Given the description of an element on the screen output the (x, y) to click on. 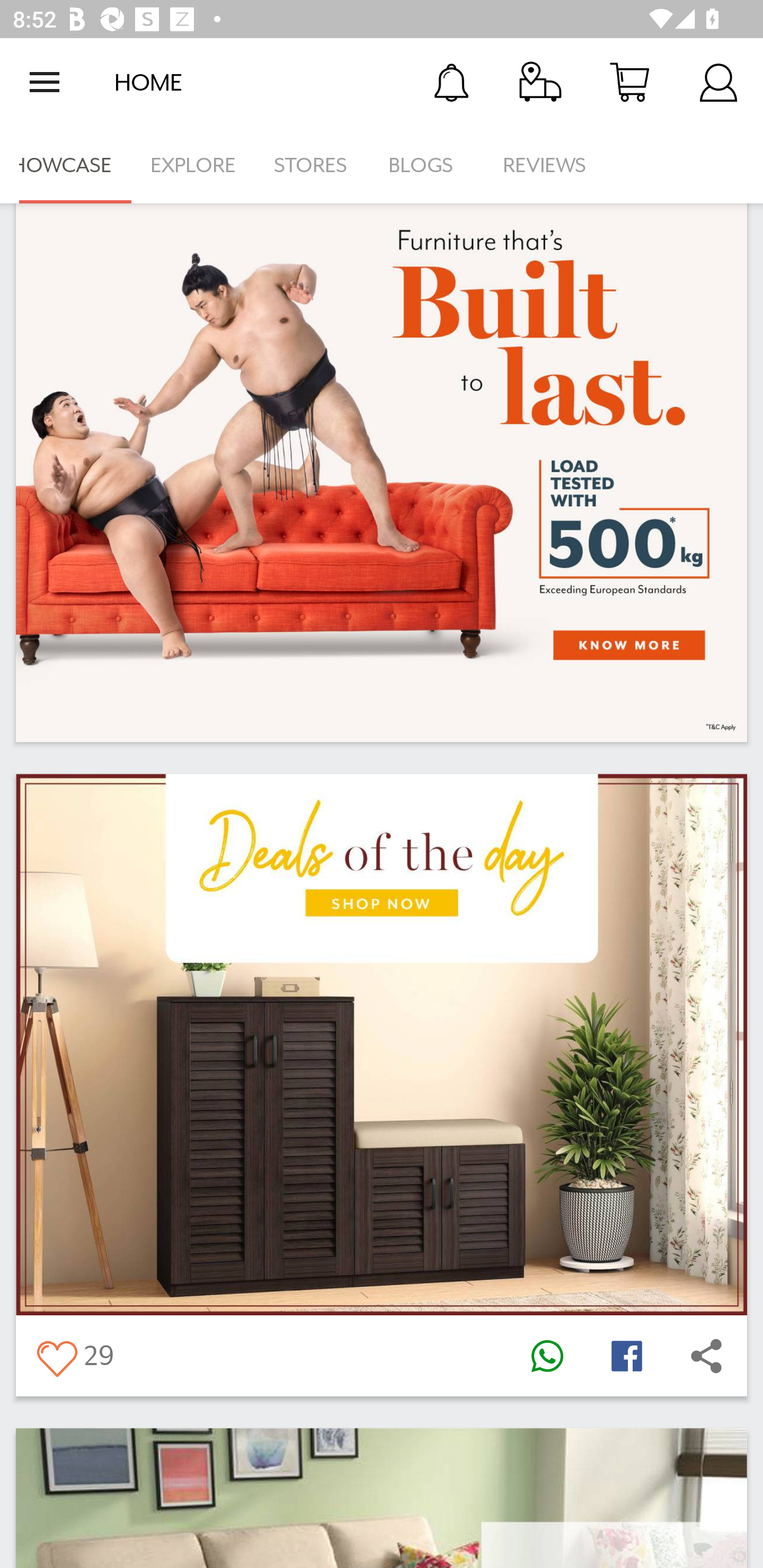
Open navigation drawer (44, 82)
Notification (450, 81)
Track Order (540, 81)
Cart (629, 81)
Account Details (718, 81)
SHOWCASE (65, 165)
EXPLORE (192, 165)
STORES (311, 165)
BLOGS (426, 165)
REVIEWS (544, 165)
 (55, 1355)
 (547, 1355)
 (626, 1355)
 (706, 1355)
